Given the description of an element on the screen output the (x, y) to click on. 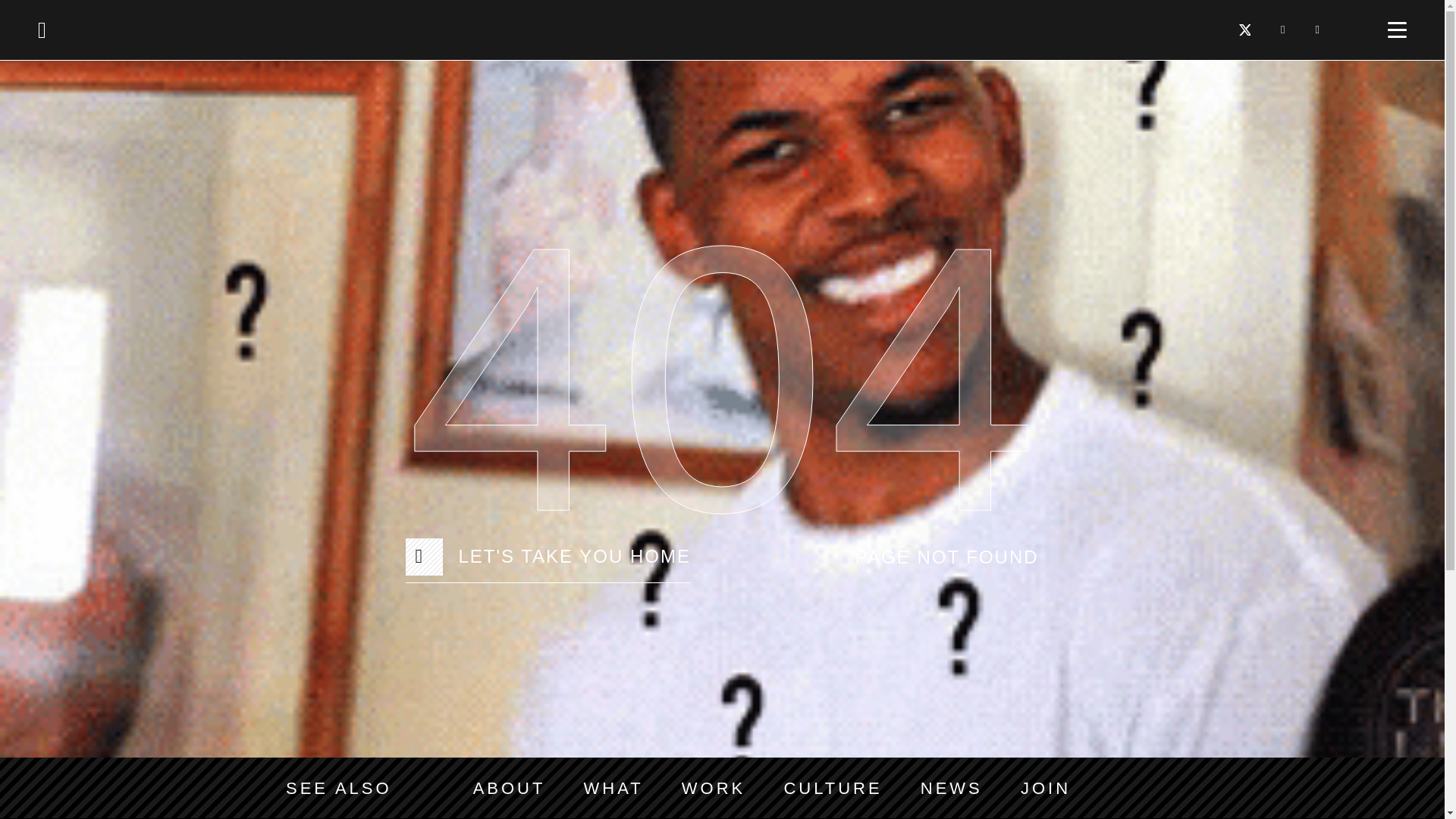
JOIN (1045, 787)
CULTURE (832, 787)
WHAT (613, 787)
NEWS (951, 787)
Twitter  (1244, 30)
ABOUT (509, 787)
Instagram  (1317, 30)
LET'S TAKE YOU HOME (548, 556)
Smyle homepage (41, 29)
LinkedIn  (1282, 30)
WORK (713, 787)
